Given the description of an element on the screen output the (x, y) to click on. 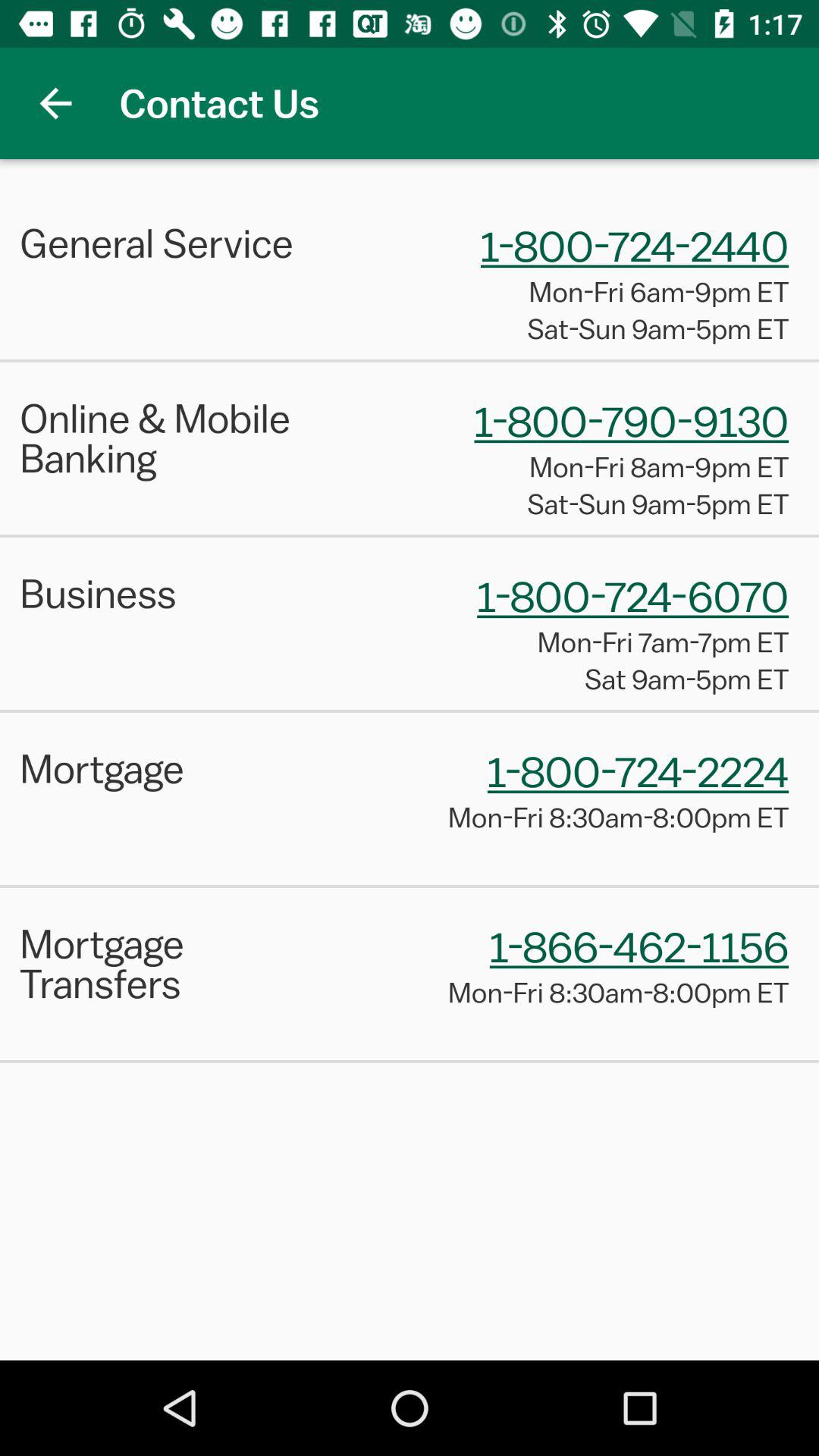
jump until 1 866 462 icon (638, 945)
